Given the description of an element on the screen output the (x, y) to click on. 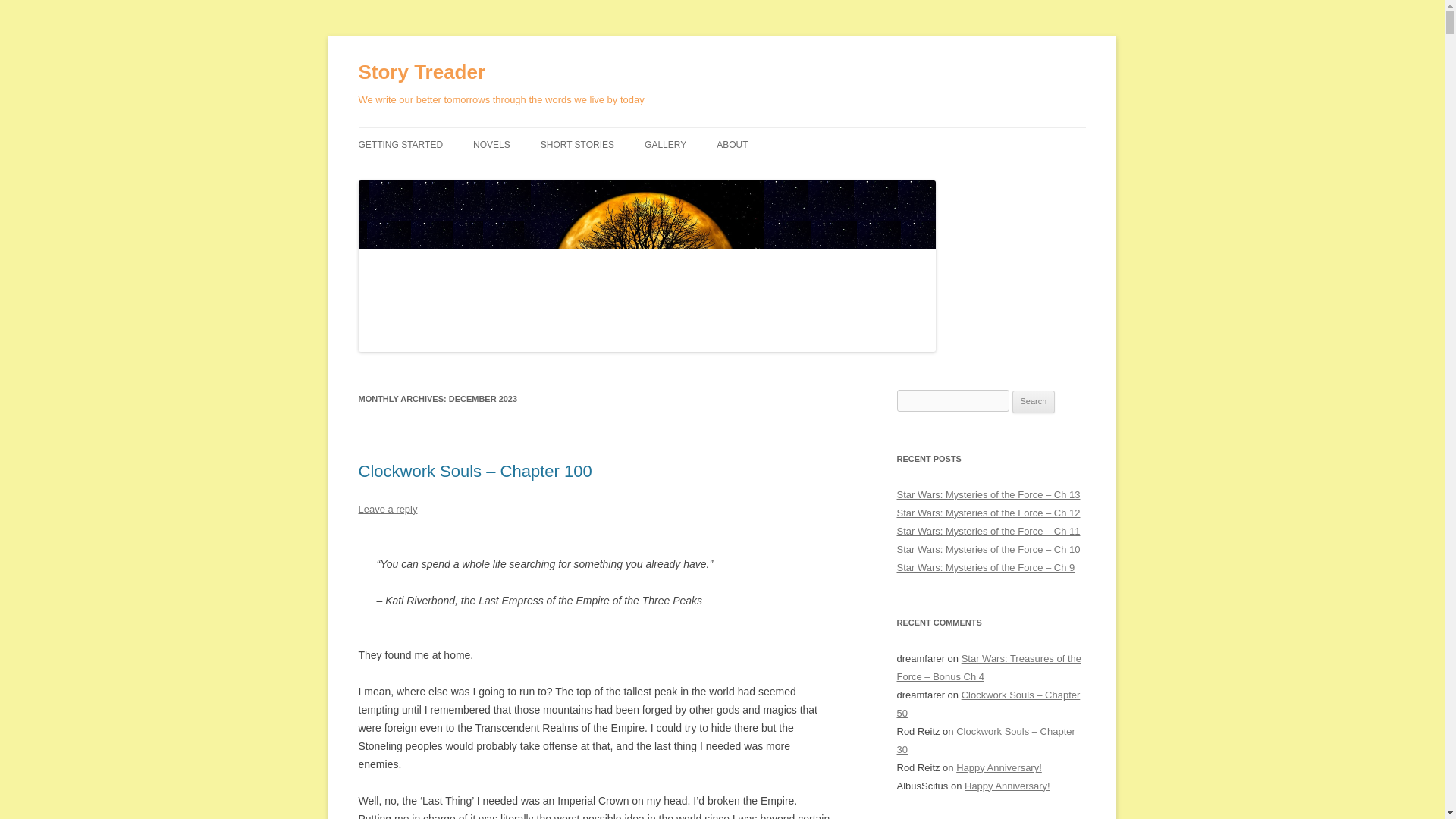
Search (1033, 401)
SW: CHRONICLES OF THE FORCE (548, 185)
SHORT STORIES (577, 144)
GETTING STARTED (400, 144)
Story Treader (421, 72)
NOVELS (492, 144)
